Given the description of an element on the screen output the (x, y) to click on. 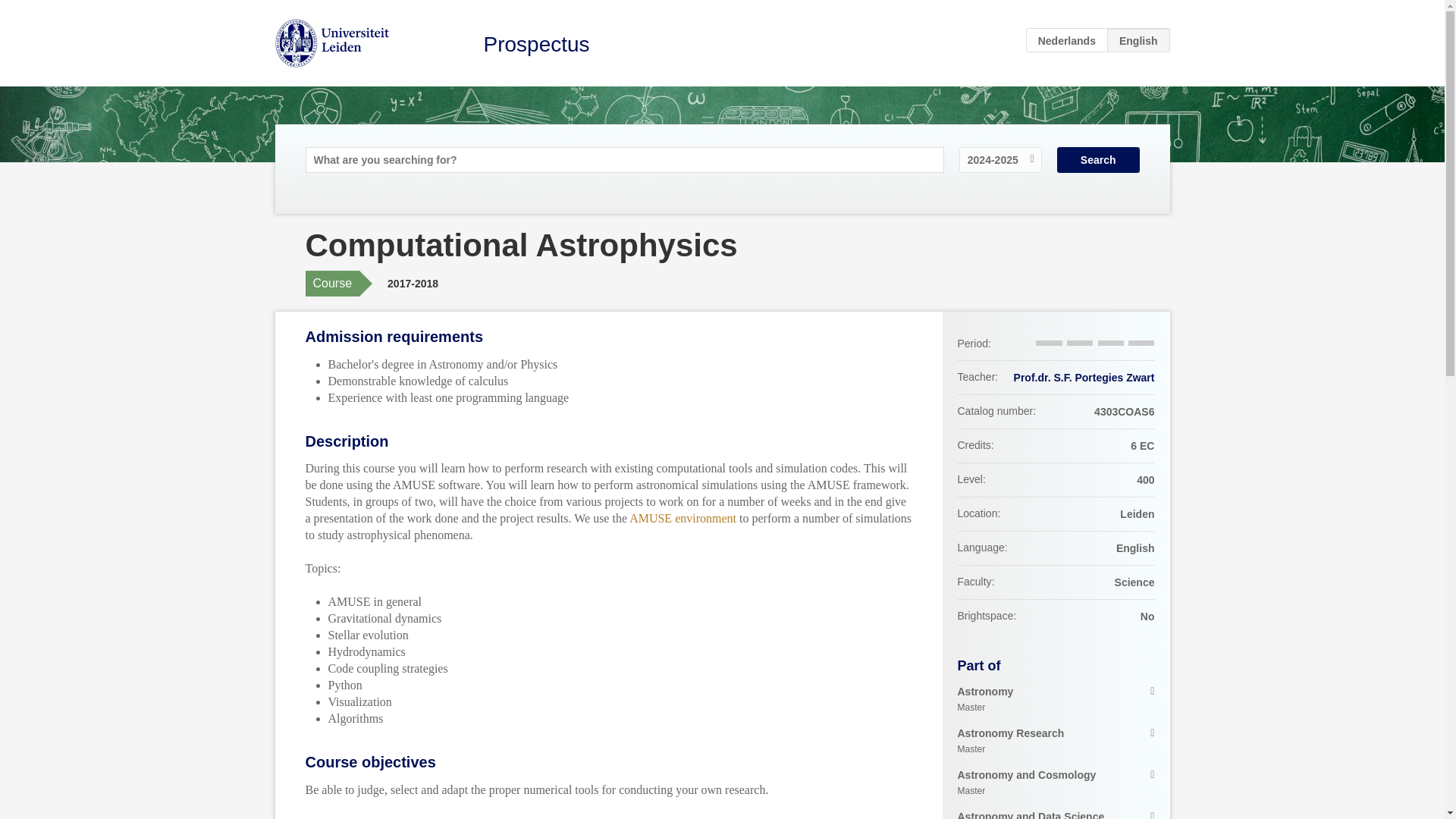
NL (1055, 741)
Prospectus (1067, 39)
AMUSE environment (1055, 783)
Search (536, 44)
Prof.dr. S.F. Portegies Zwart (1055, 699)
